Given the description of an element on the screen output the (x, y) to click on. 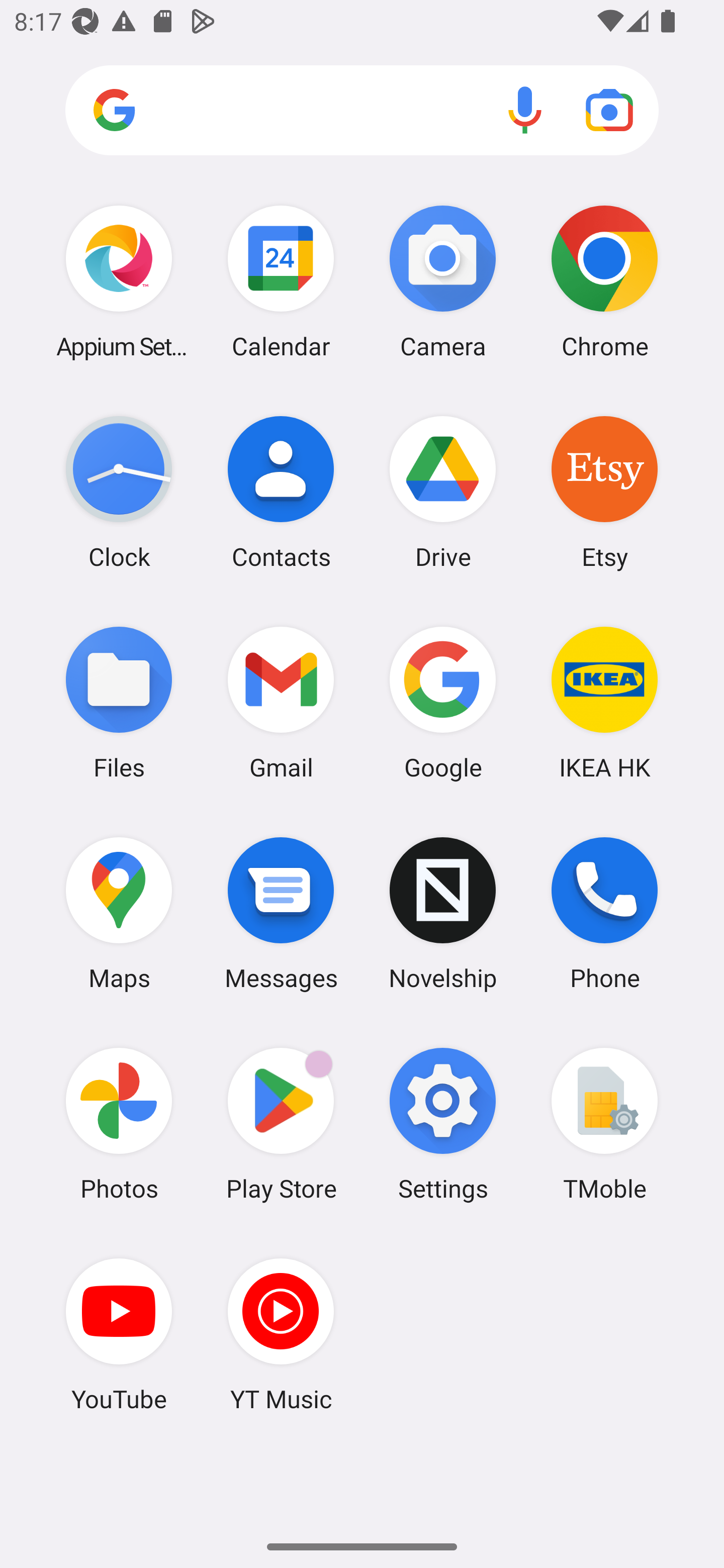
Search apps, web and more (361, 110)
Voice search (524, 109)
Google Lens (608, 109)
Appium Settings (118, 281)
Calendar (280, 281)
Camera (443, 281)
Chrome (604, 281)
Clock (118, 492)
Contacts (280, 492)
Drive (443, 492)
Etsy (604, 492)
Files (118, 702)
Gmail (280, 702)
Google (443, 702)
IKEA HK (604, 702)
Maps (118, 913)
Messages (280, 913)
Novelship (443, 913)
Phone (604, 913)
Photos (118, 1124)
Play Store Play Store has 1 notification (280, 1124)
Settings (443, 1124)
TMoble (604, 1124)
YouTube (118, 1334)
YT Music (280, 1334)
